Given the description of an element on the screen output the (x, y) to click on. 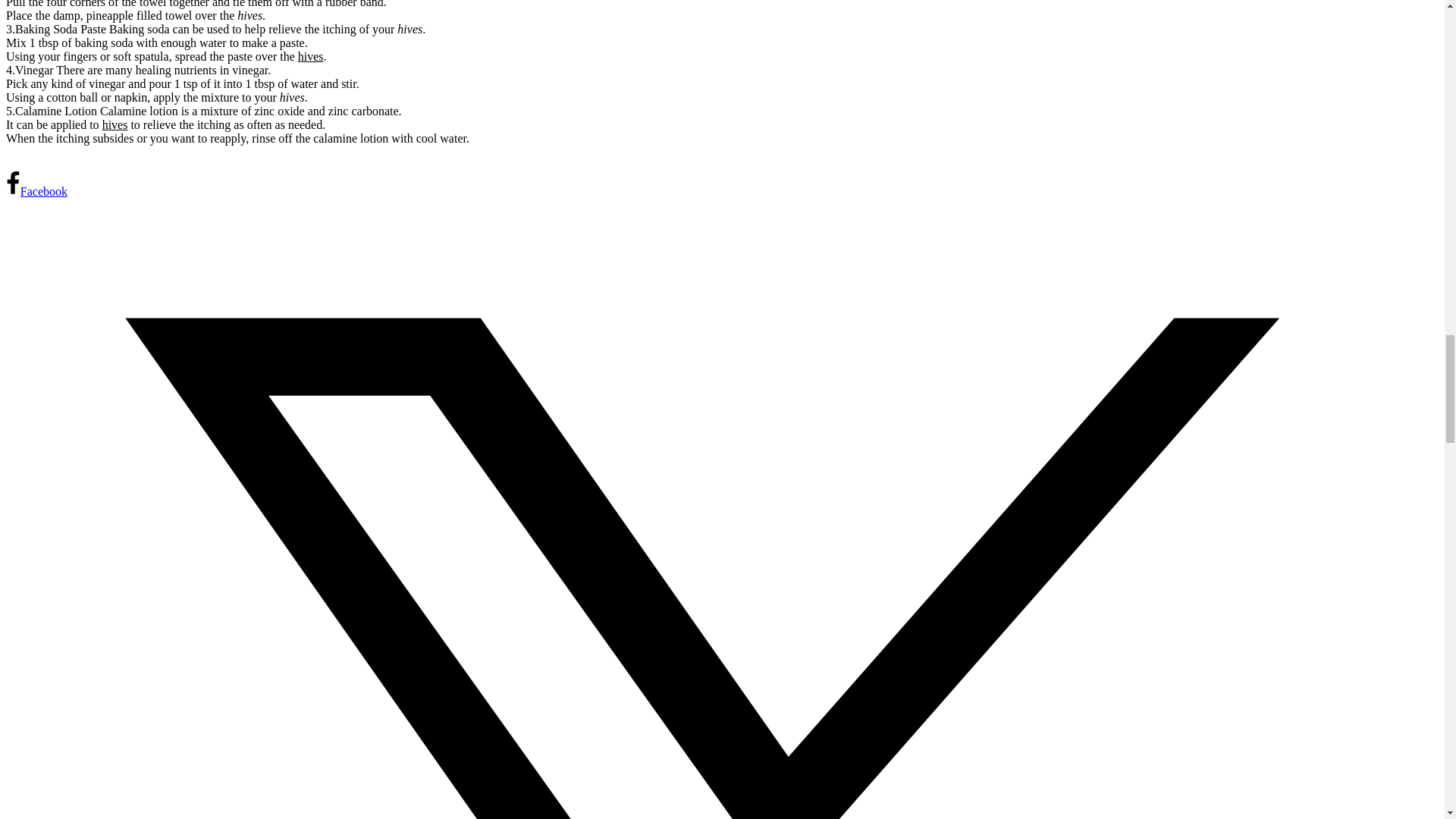
Facebook (35, 191)
Share on Facebook (35, 191)
